Given the description of an element on the screen output the (x, y) to click on. 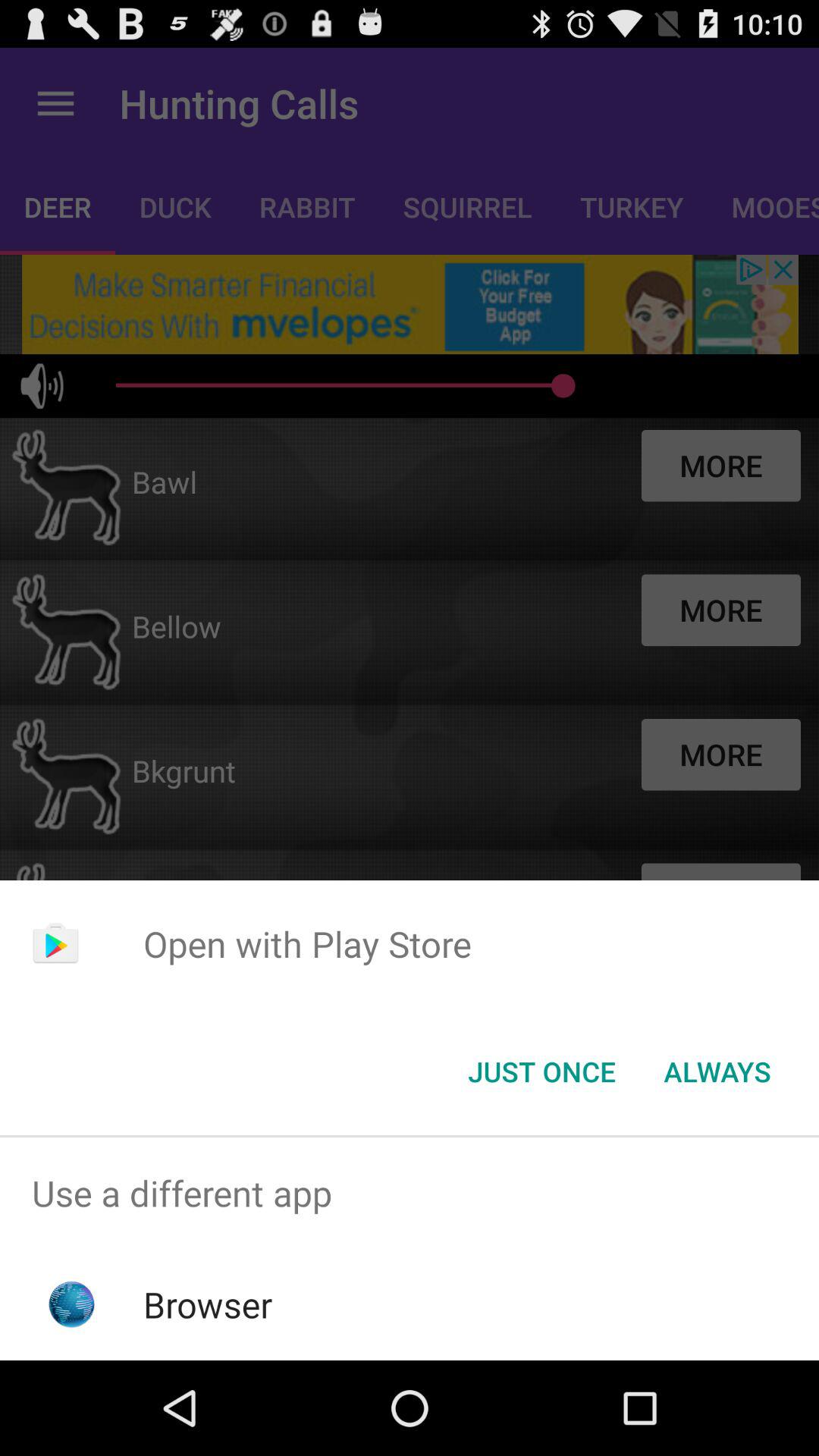
click always icon (717, 1071)
